Given the description of an element on the screen output the (x, y) to click on. 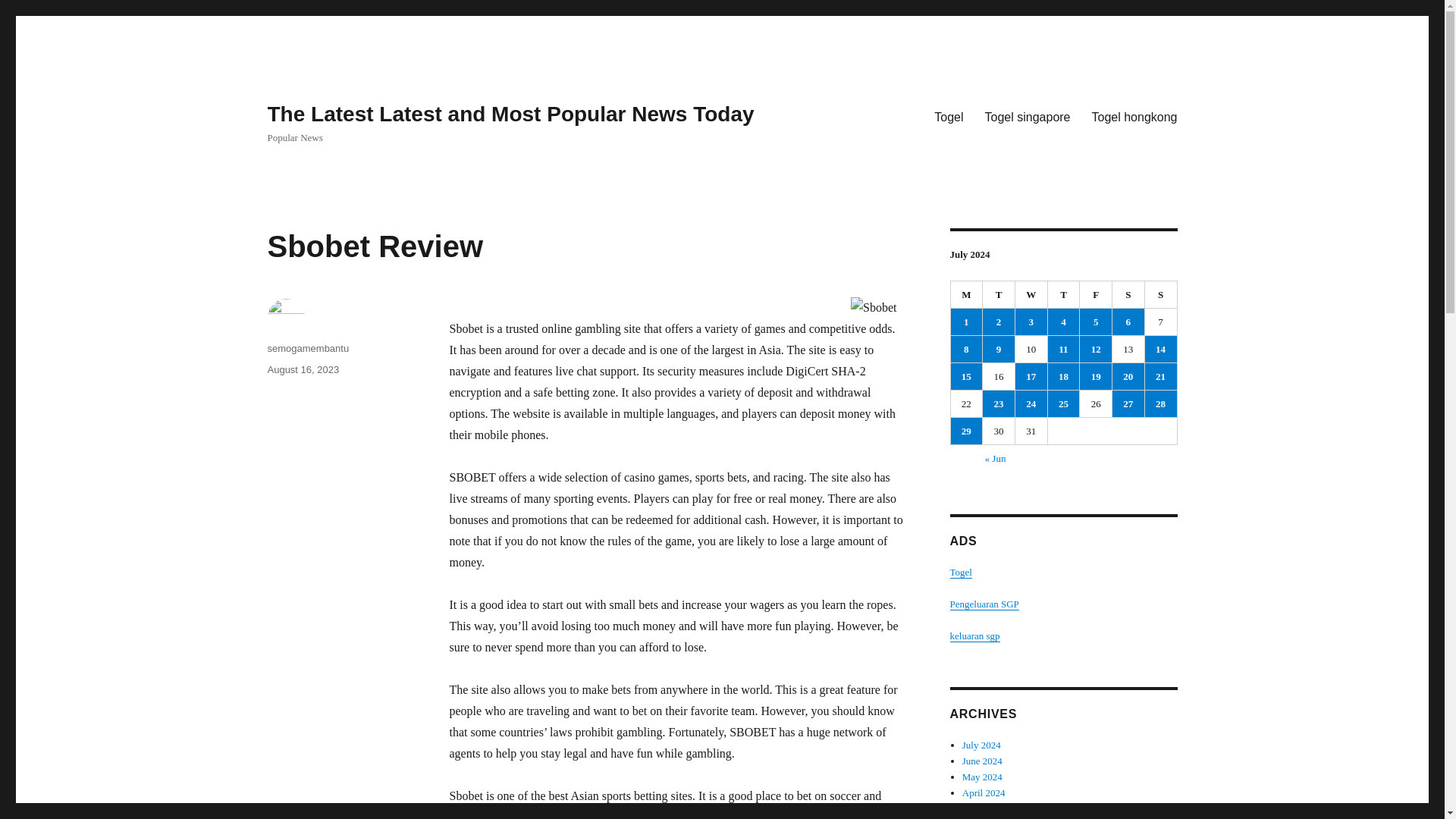
6 (1128, 321)
1 (966, 321)
Pengeluaran SGP (983, 603)
19 (1096, 376)
15 (966, 376)
Togel (948, 116)
2 (998, 321)
Friday (1096, 294)
Tuesday (998, 294)
4 (1064, 321)
21 (1160, 376)
27 (1128, 403)
24 (1030, 403)
12 (1096, 348)
14 (1160, 348)
